Given the description of an element on the screen output the (x, y) to click on. 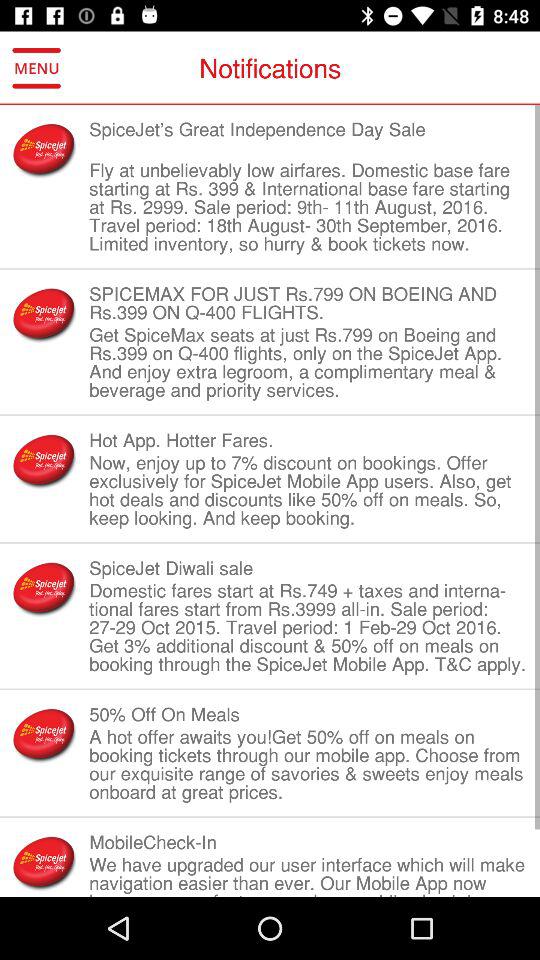
press icon below the mobilecheck-in item (307, 874)
